Given the description of an element on the screen output the (x, y) to click on. 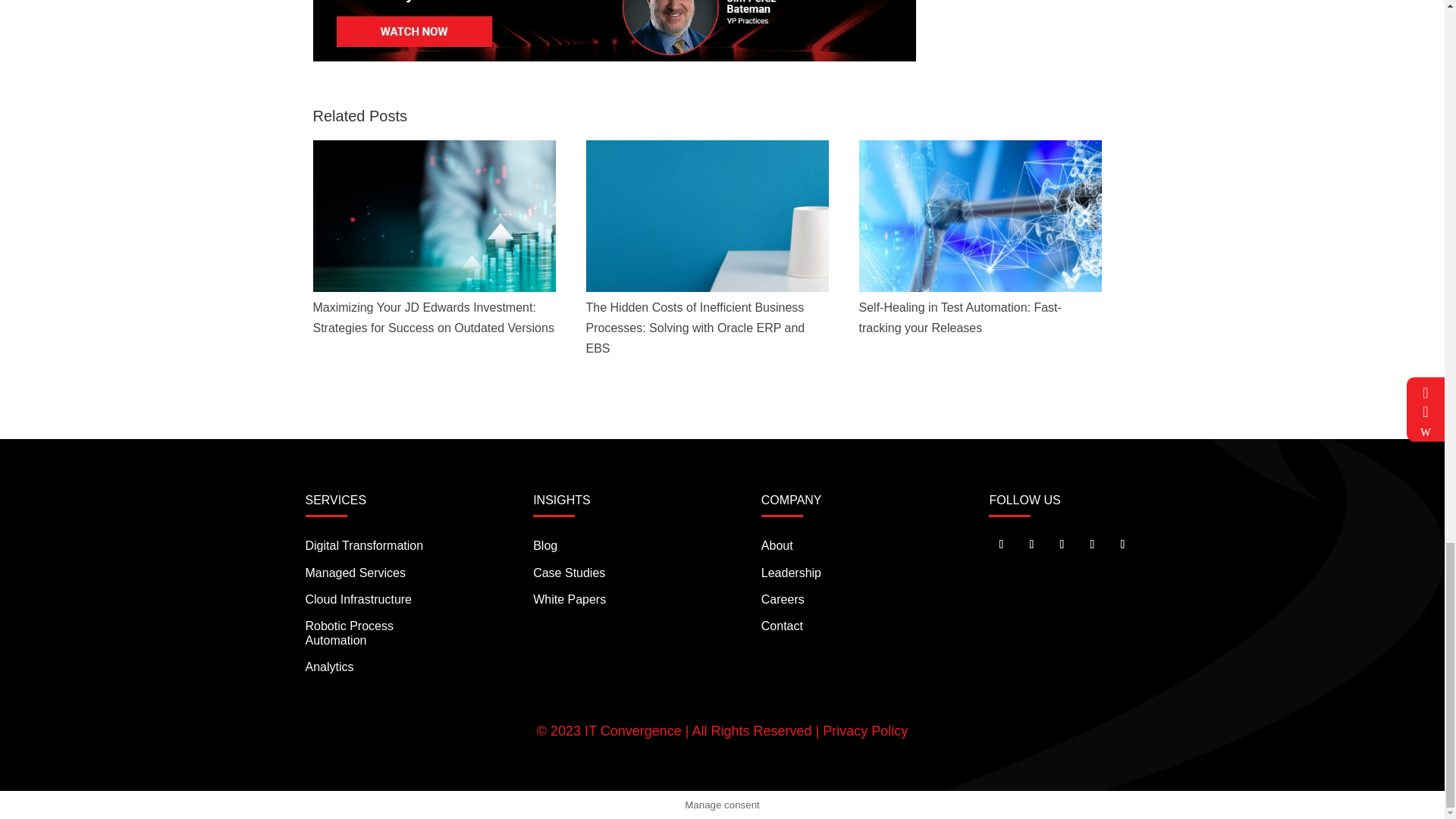
Follow on RSS (1121, 544)
Follow on Youtube (1091, 544)
Follow on LinkedIn (1061, 544)
Follow on Facebook (1031, 544)
Follow on Twitter (1000, 544)
